Given the description of an element on the screen output the (x, y) to click on. 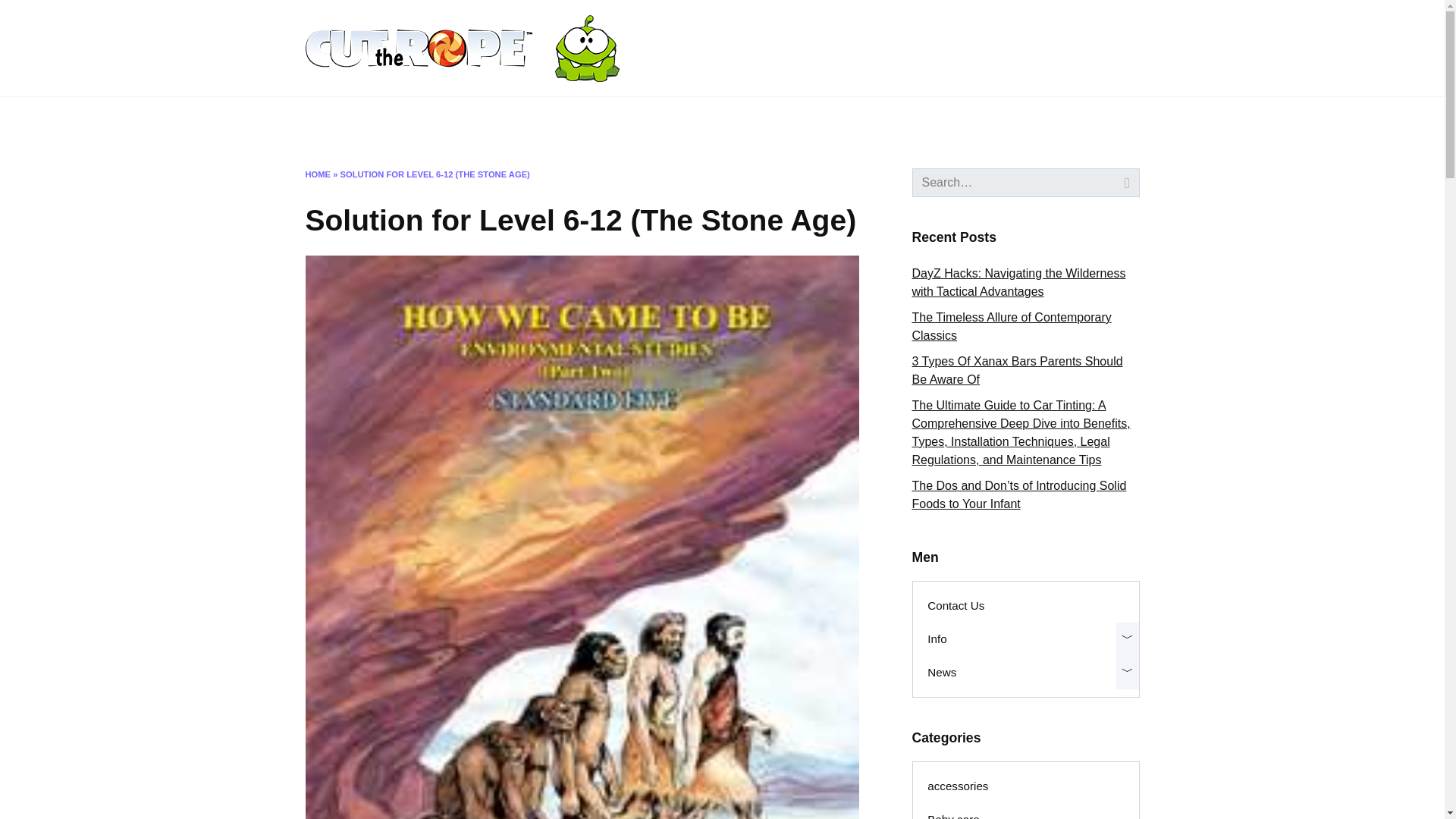
Contact Us (340, 121)
Info (415, 121)
HOME (317, 174)
News (482, 121)
